Given the description of an element on the screen output the (x, y) to click on. 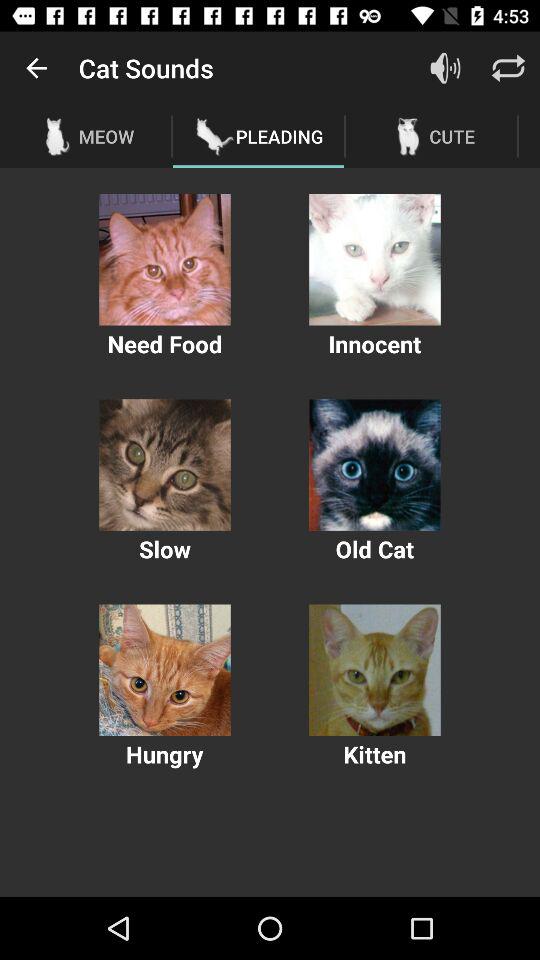
hear a kitten sound (374, 669)
